Given the description of an element on the screen output the (x, y) to click on. 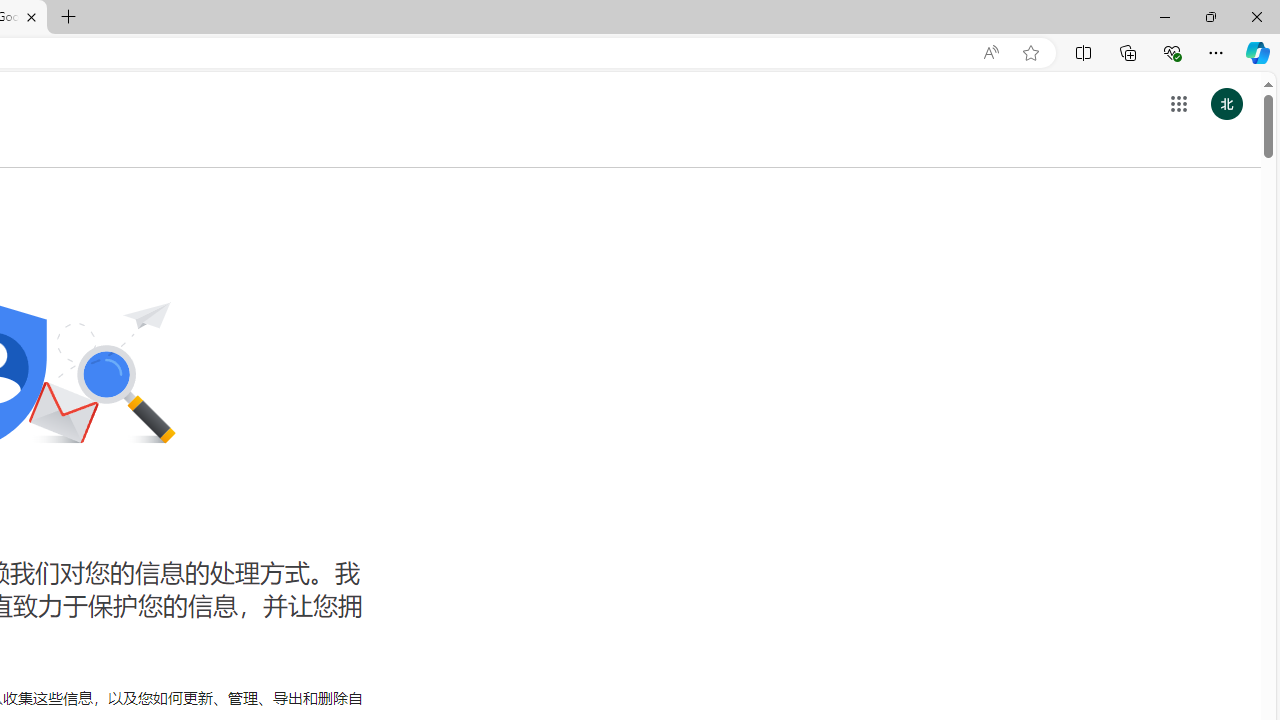
Class: gb_E (1178, 103)
